Given the description of an element on the screen output the (x, y) to click on. 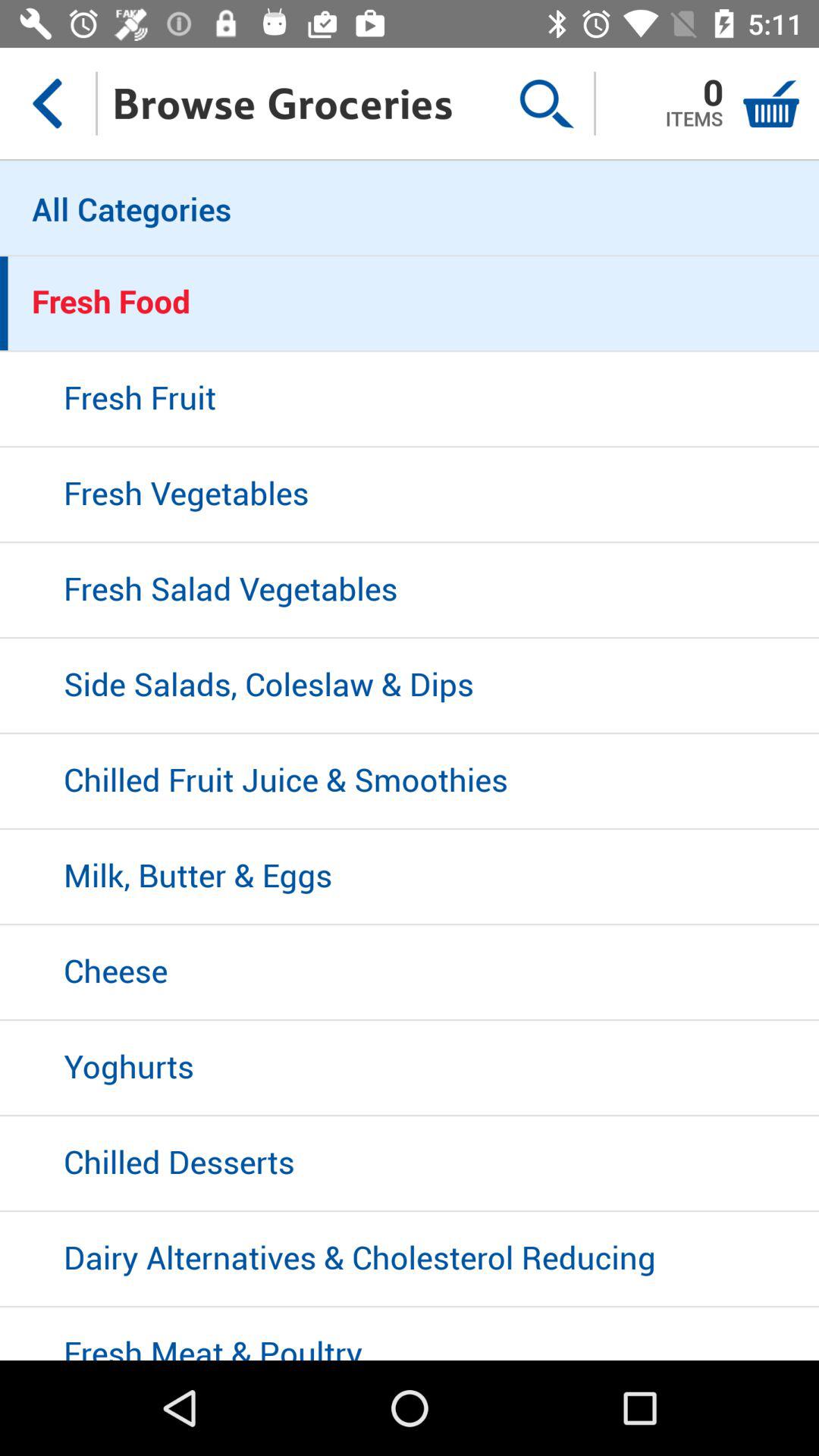
open item above fresh vegetables icon (409, 399)
